Given the description of an element on the screen output the (x, y) to click on. 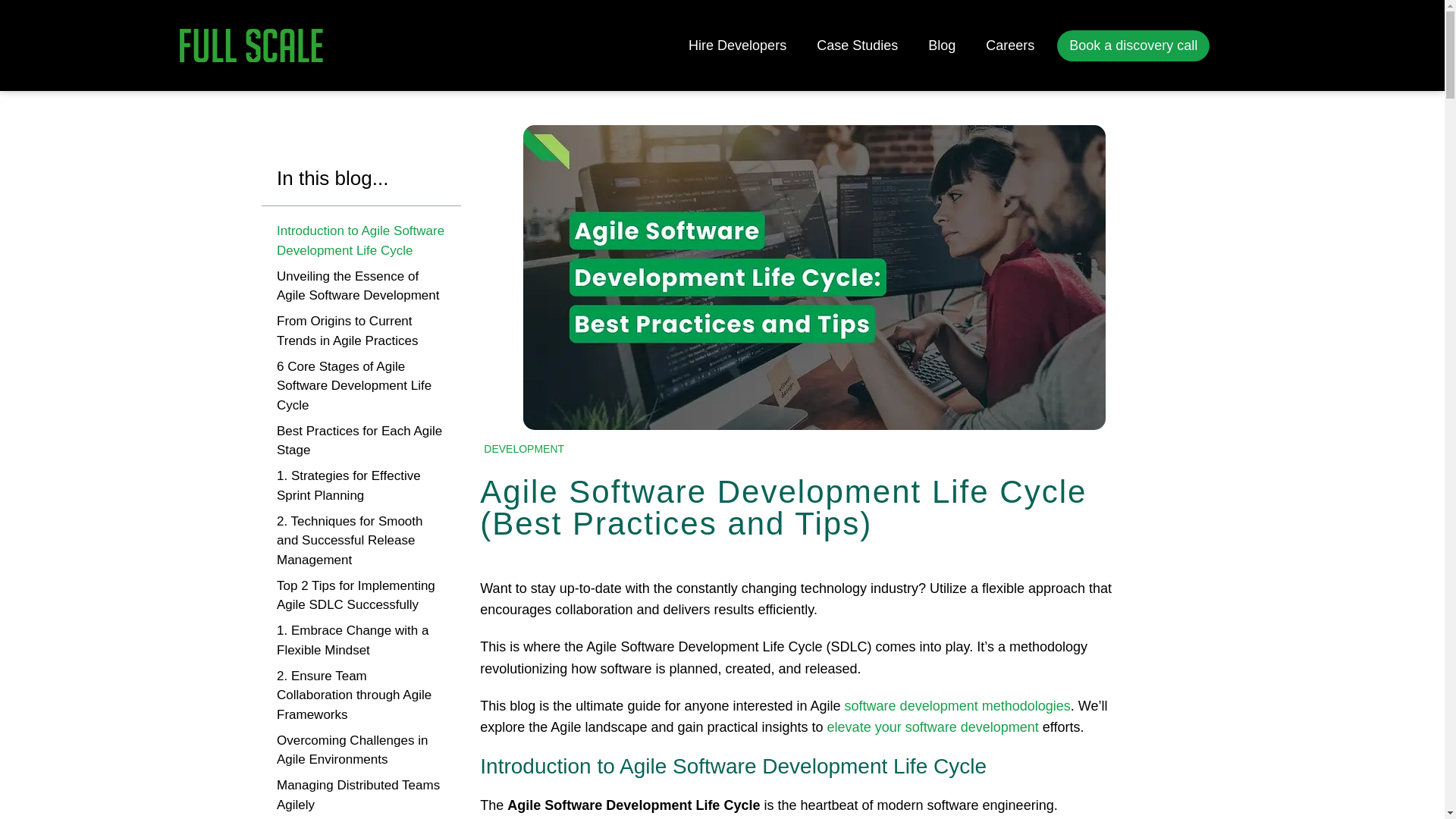
Hire Developers (737, 45)
Blog (941, 45)
2. Techniques for Smooth and Successful Release Management (360, 540)
Overcoming Challenges in Agile Environments (360, 750)
Unveiling the Essence of Agile Software Development (360, 285)
6 Core Stages of Agile Software Development Life Cycle (360, 386)
2. Ensure Team Collaboration through Agile Frameworks (360, 695)
Top 2 Tips for Implementing Agile SDLC Successfully (360, 595)
Book a discovery call (1133, 45)
Careers (1010, 45)
